Given the description of an element on the screen output the (x, y) to click on. 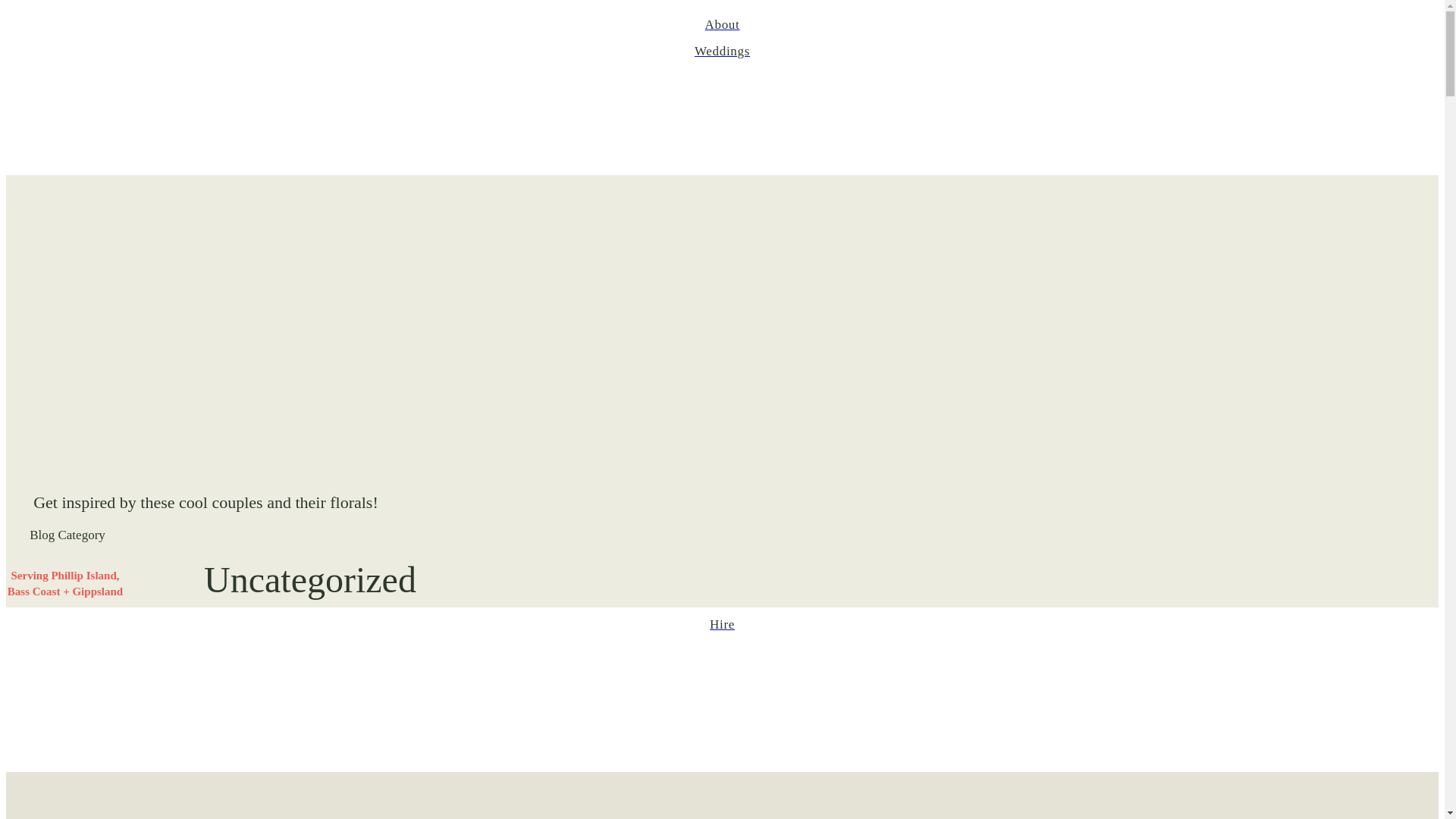
Hire Element type: text (722, 624)
Weddings Element type: text (722, 51)
About Element type: text (722, 24)
